Given the description of an element on the screen output the (x, y) to click on. 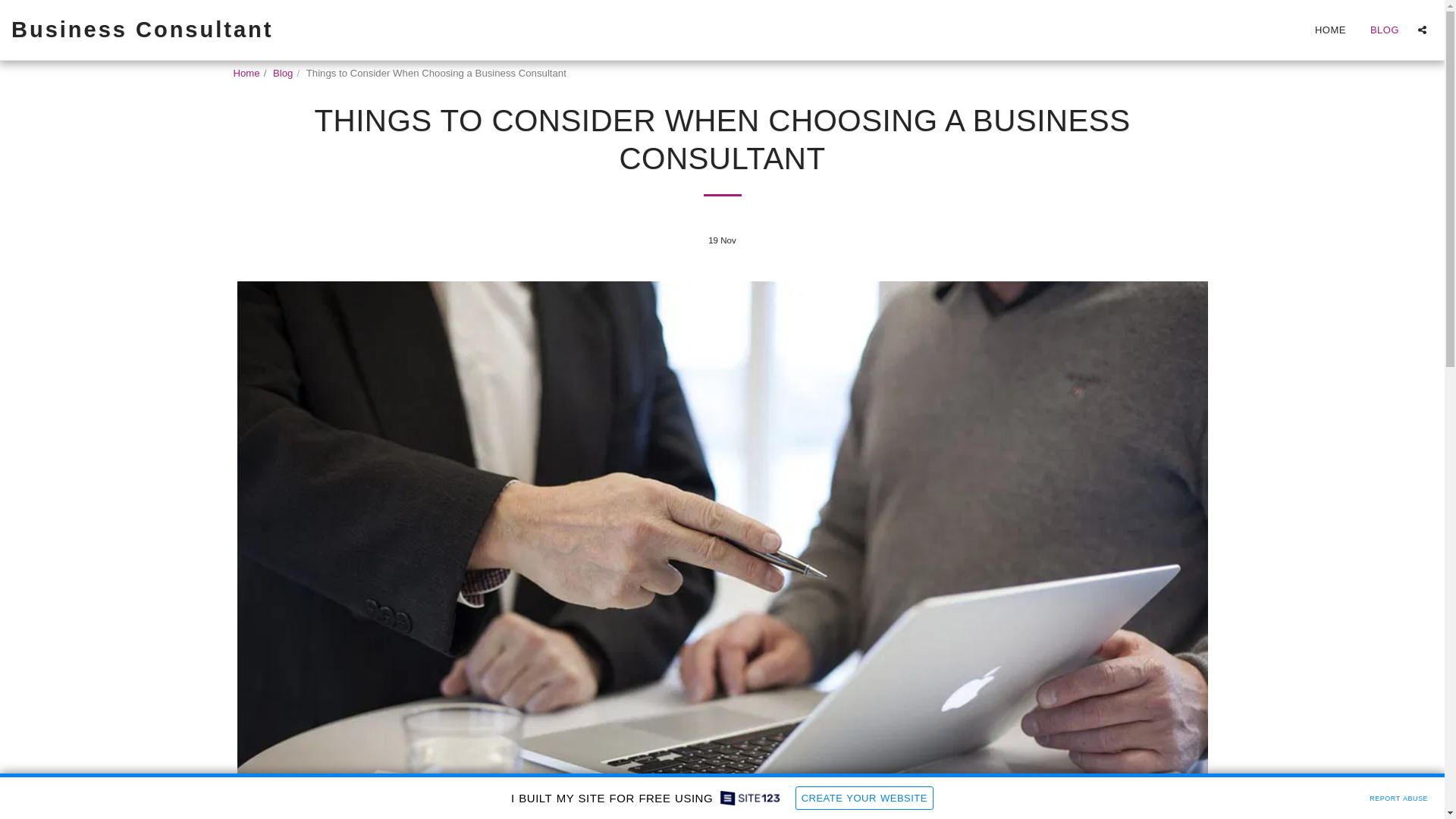
Business Consultant (142, 30)
REPORT ABUSE (1398, 796)
Blog (282, 72)
HOME (1329, 29)
Home (246, 72)
BLOG (1384, 29)
